Given the description of an element on the screen output the (x, y) to click on. 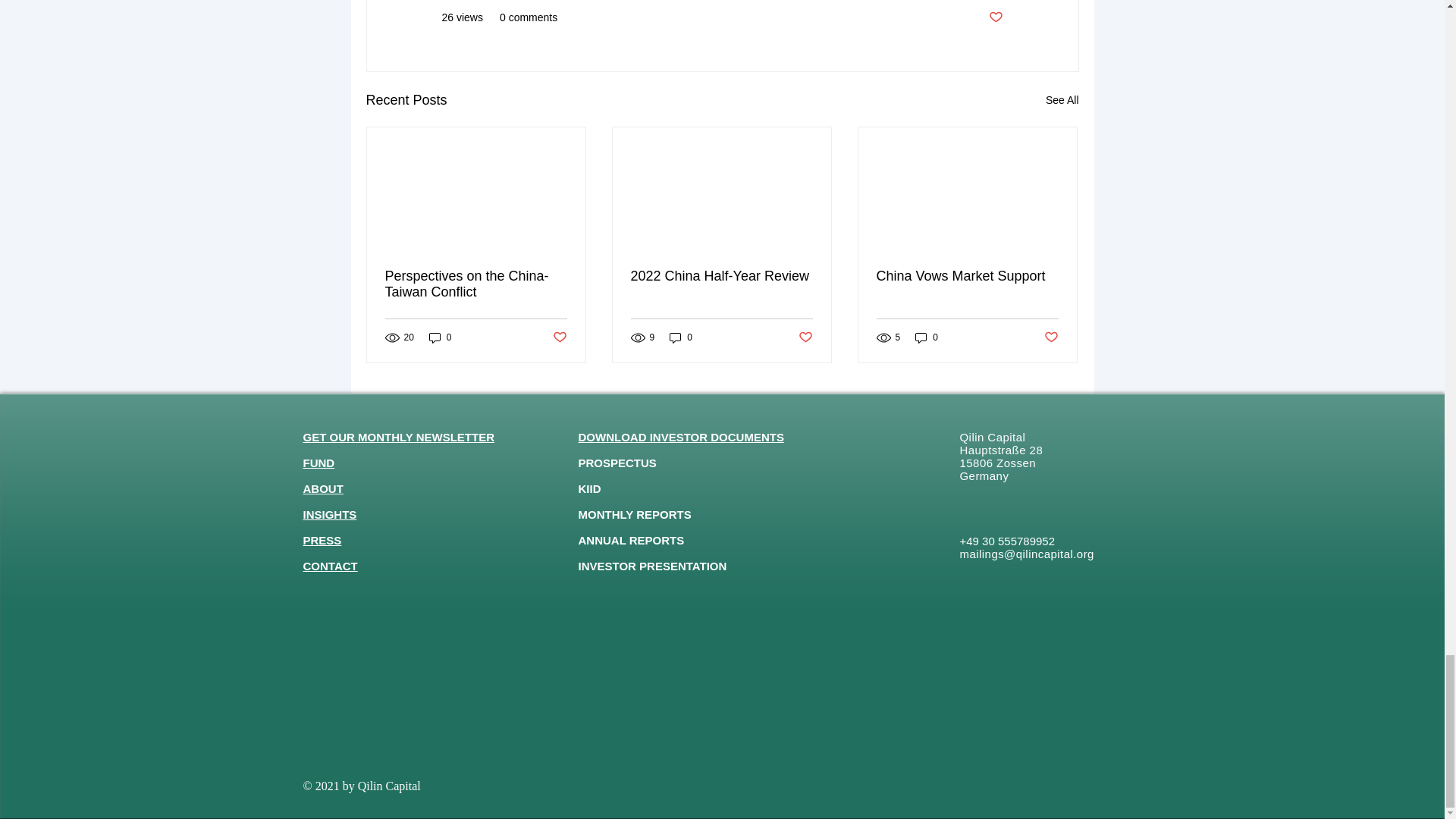
Post not marked as liked (995, 17)
Post not marked as liked (558, 337)
Perspectives on the China-Taiwan Conflict (476, 284)
FUND (318, 462)
GET OUR MONTHLY NEWSLETTER (398, 436)
Post not marked as liked (1050, 337)
0 (681, 337)
See All (1061, 100)
0 (926, 337)
INSIGHTS (329, 513)
2022 China Half-Year Review (721, 276)
ABOUT (322, 488)
0 (440, 337)
China Vows Market Support (967, 276)
Post not marked as liked (804, 337)
